Given the description of an element on the screen output the (x, y) to click on. 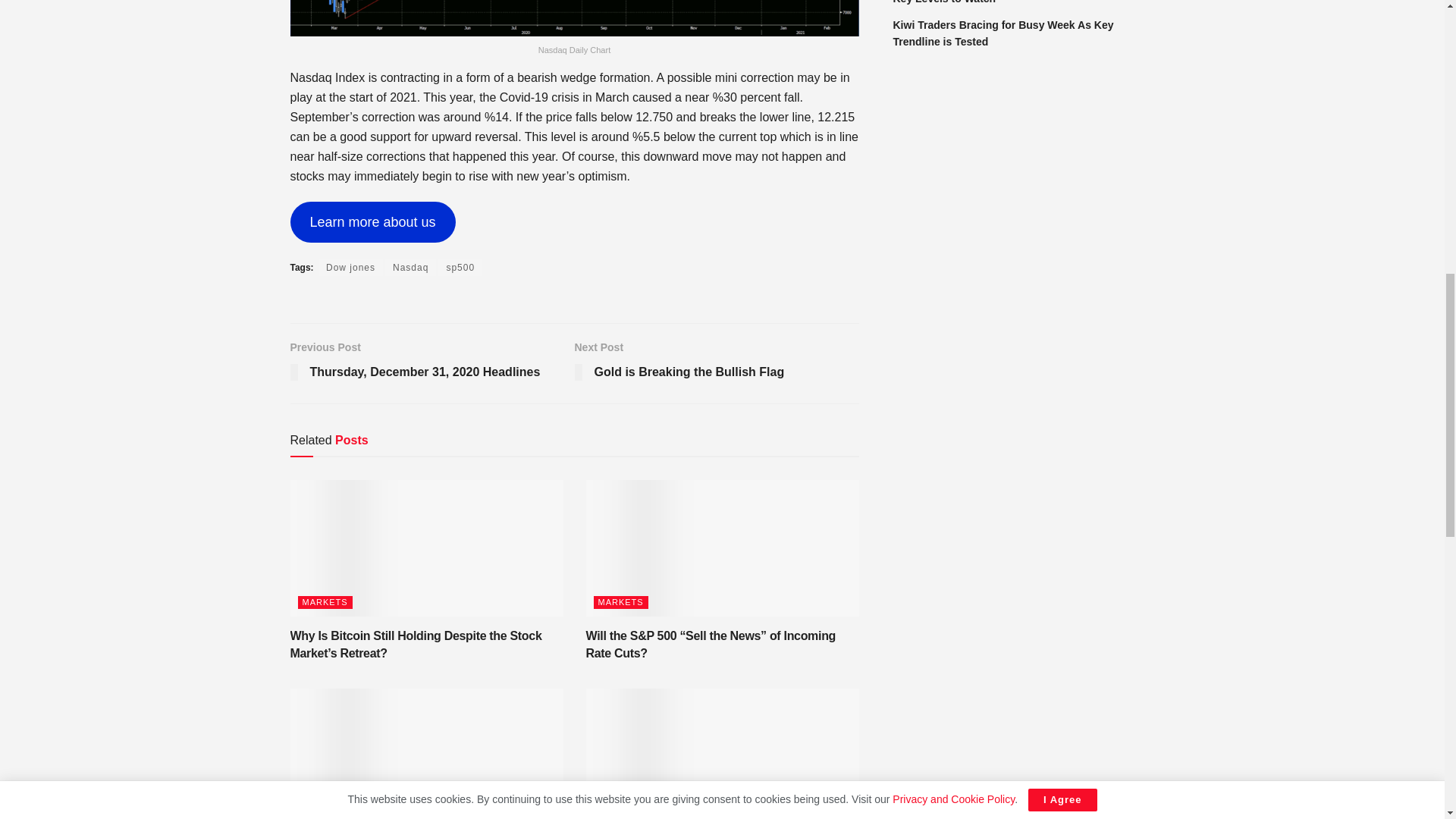
Learn more about us (371, 221)
Dow jones (350, 267)
Nasdaq (410, 267)
